Given the description of an element on the screen output the (x, y) to click on. 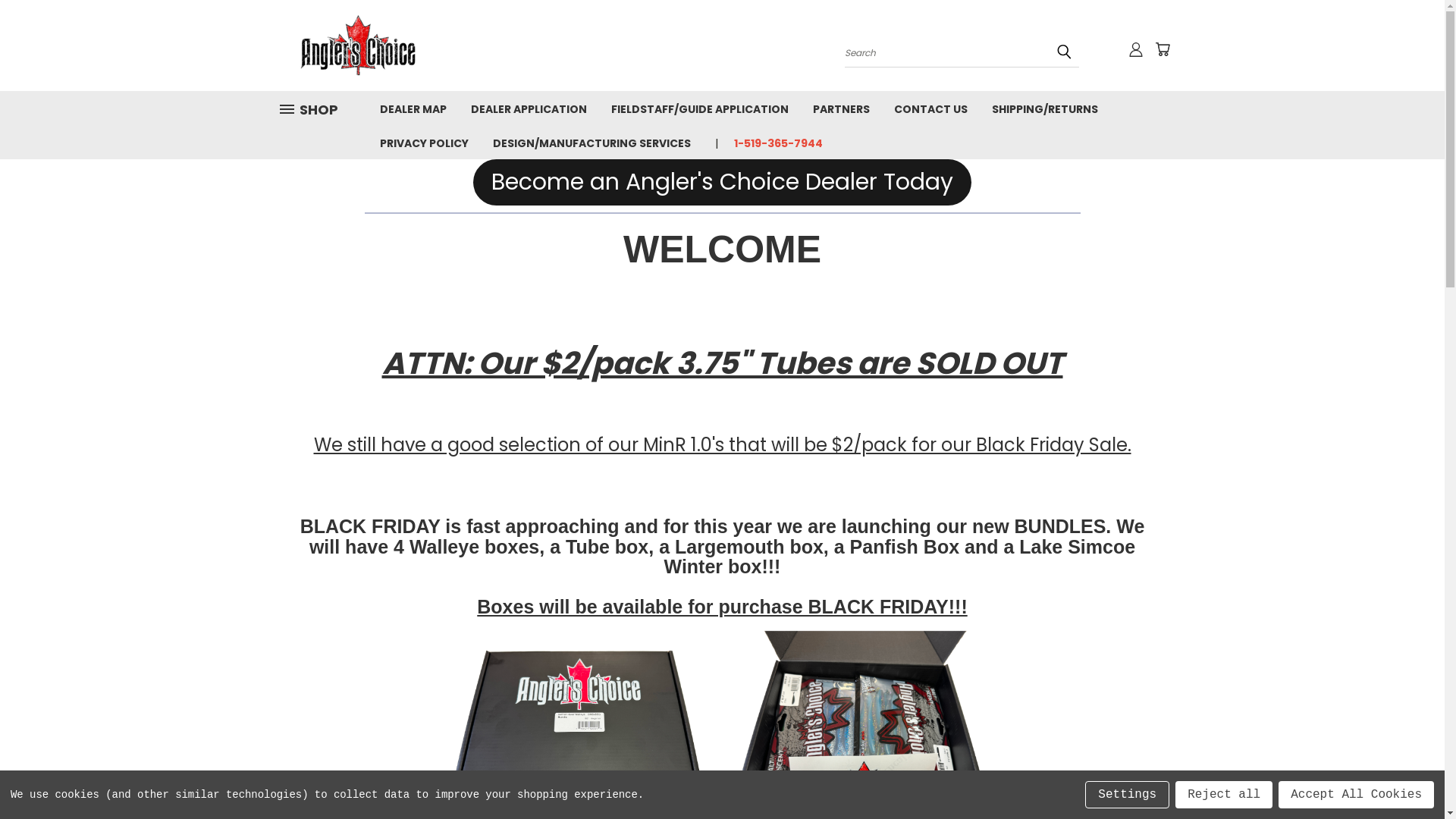
DESIGN/MANUFACTURING SERVICES Element type: text (591, 142)
PARTNERS Element type: text (840, 108)
SHOP Element type: text (314, 109)
Settings Element type: text (1127, 794)
DEALER APPLICATION Element type: text (528, 108)
Angler's Choice Element type: hover (362, 45)
Accept All Cookies Element type: text (1356, 794)
SHIPPING/RETURNS Element type: text (1044, 108)
submit Element type: hover (1063, 51)
Become an Angler's Choice Dealer Today Element type: text (722, 182)
Reject all Element type: text (1223, 794)
DEALER MAP Element type: text (412, 108)
FIELDSTAFF/GUIDE APPLICATION Element type: text (699, 108)
1-519-365-7944 Element type: text (771, 142)
CONTACT US Element type: text (930, 108)
PRIVACY POLICY Element type: text (423, 142)
